Given the description of an element on the screen output the (x, y) to click on. 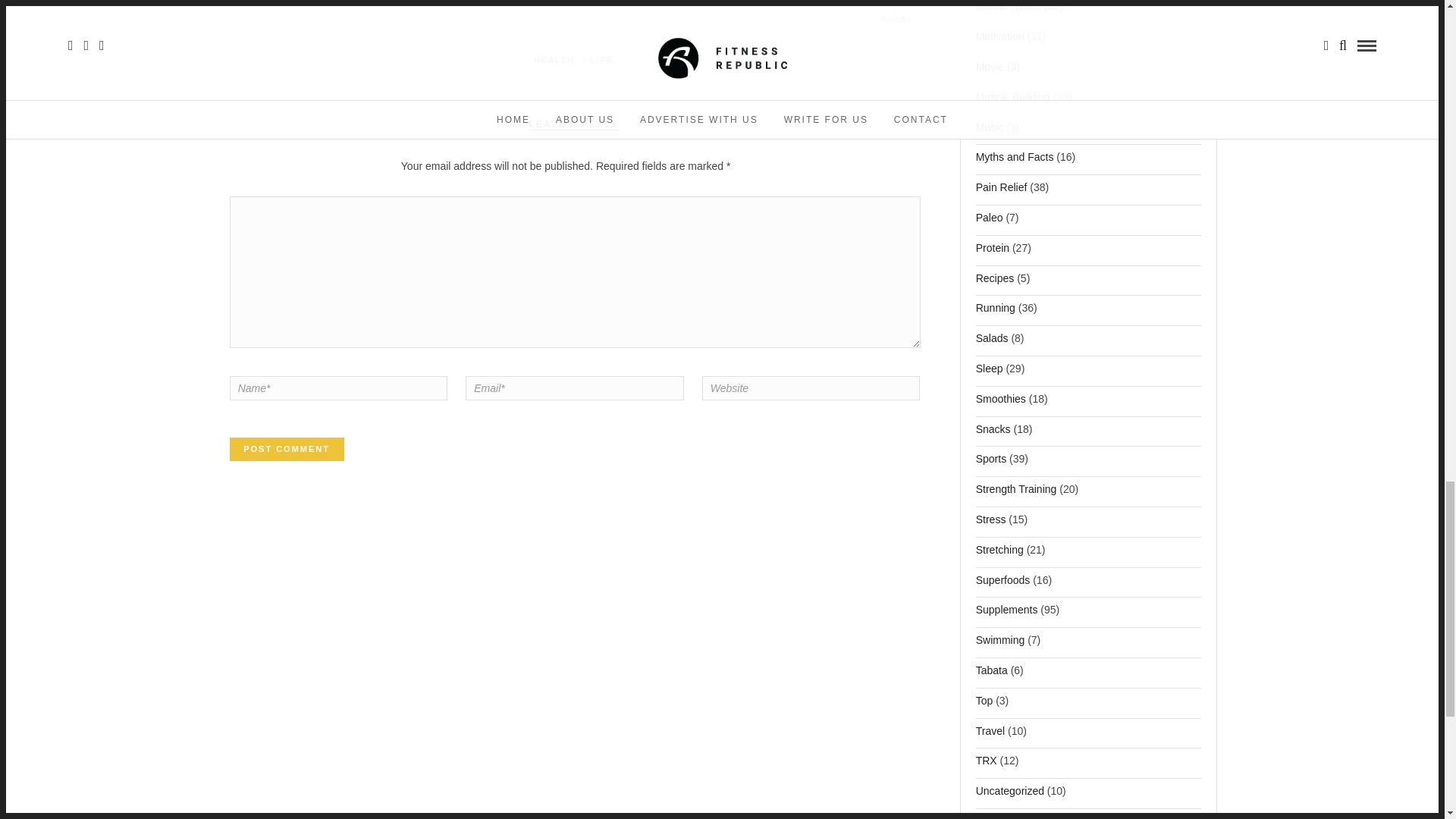
Post Comment (286, 449)
HEALTH (554, 59)
Post Comment (286, 449)
LIFE (602, 59)
